Given the description of an element on the screen output the (x, y) to click on. 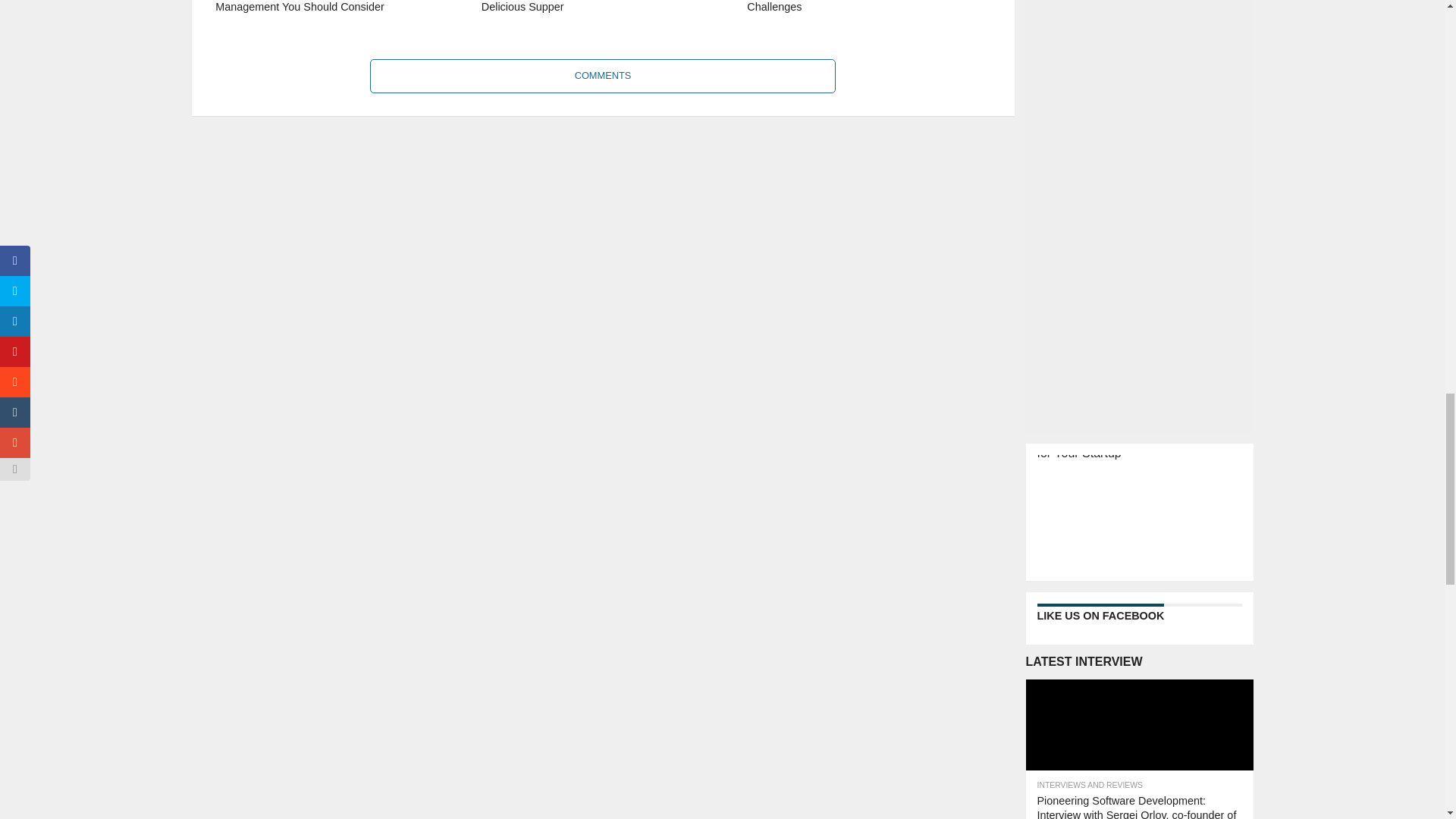
The Halal Market Boom: Opportunities and Challenges (868, 20)
